Given the description of an element on the screen output the (x, y) to click on. 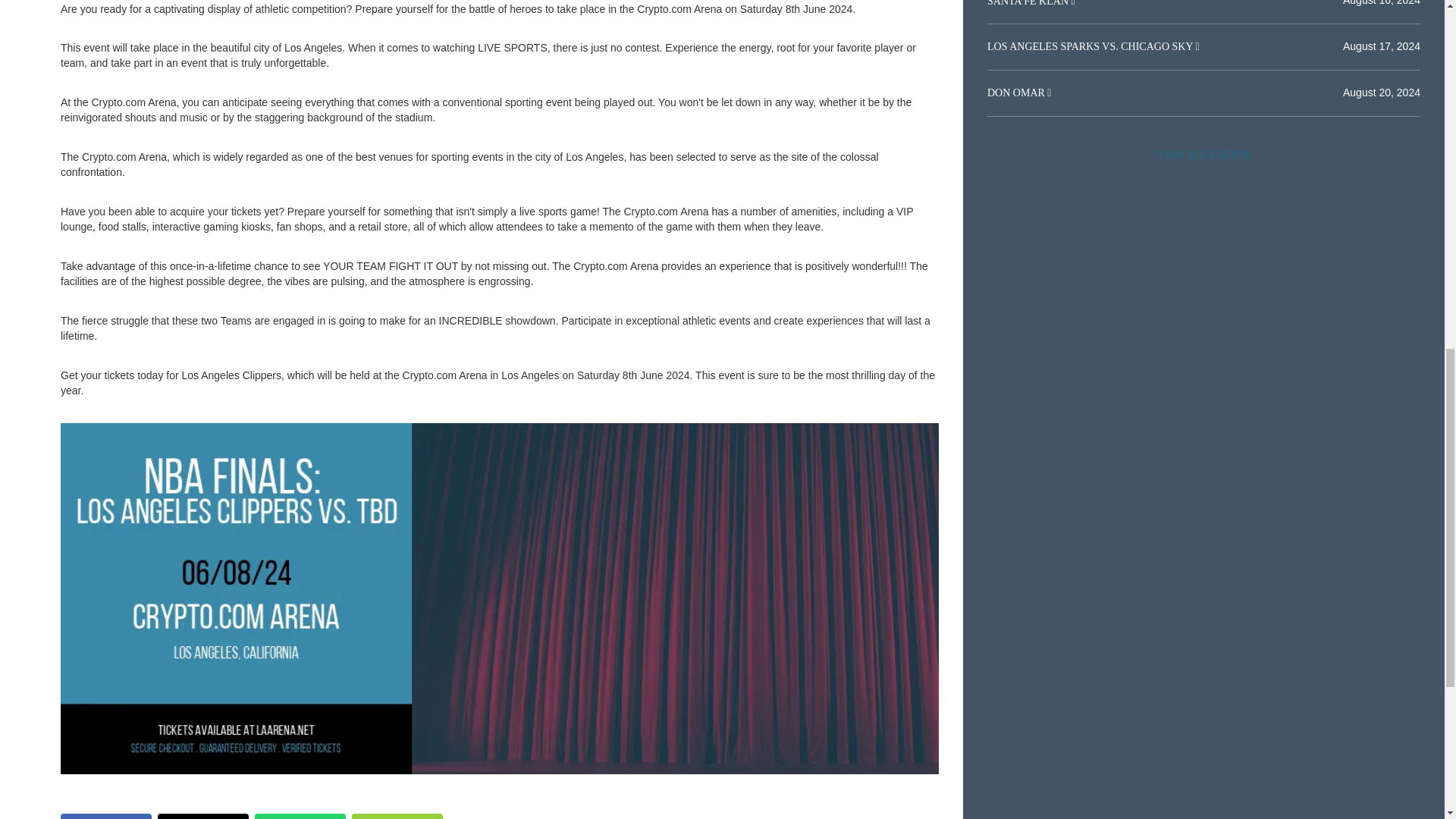
LOS ANGELES SPARKS VS. CHICAGO SKY (1091, 46)
DON OMAR (1016, 92)
VIEW ALL EVENTS (1203, 154)
SANTA FE KLAN (1029, 3)
